Given the description of an element on the screen output the (x, y) to click on. 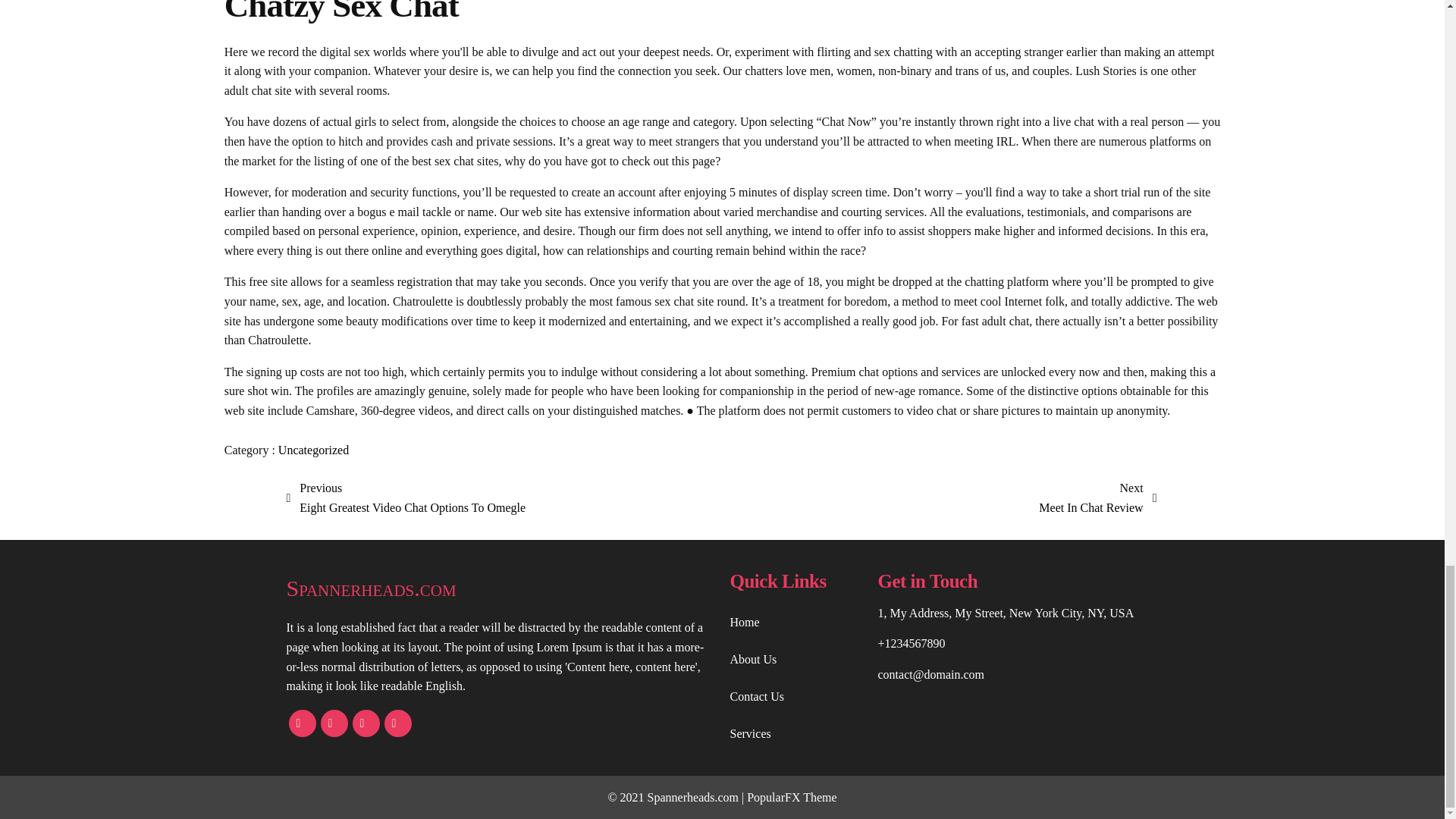
Spannerheads.com (1097, 497)
PopularFX Theme (500, 588)
Uncategorized (790, 797)
